Given the description of an element on the screen output the (x, y) to click on. 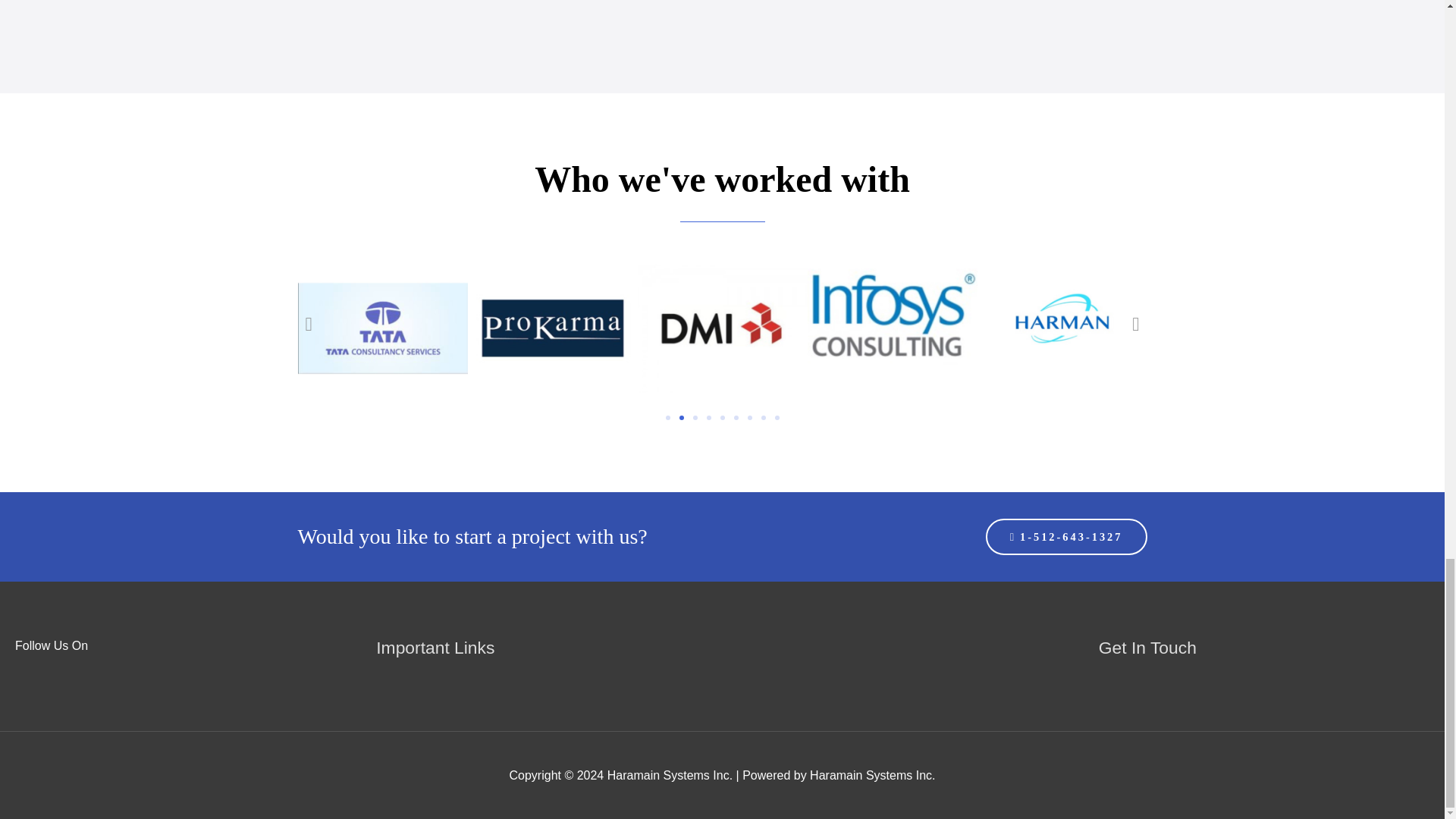
1-512-643-1327 (1066, 536)
